Given the description of an element on the screen output the (x, y) to click on. 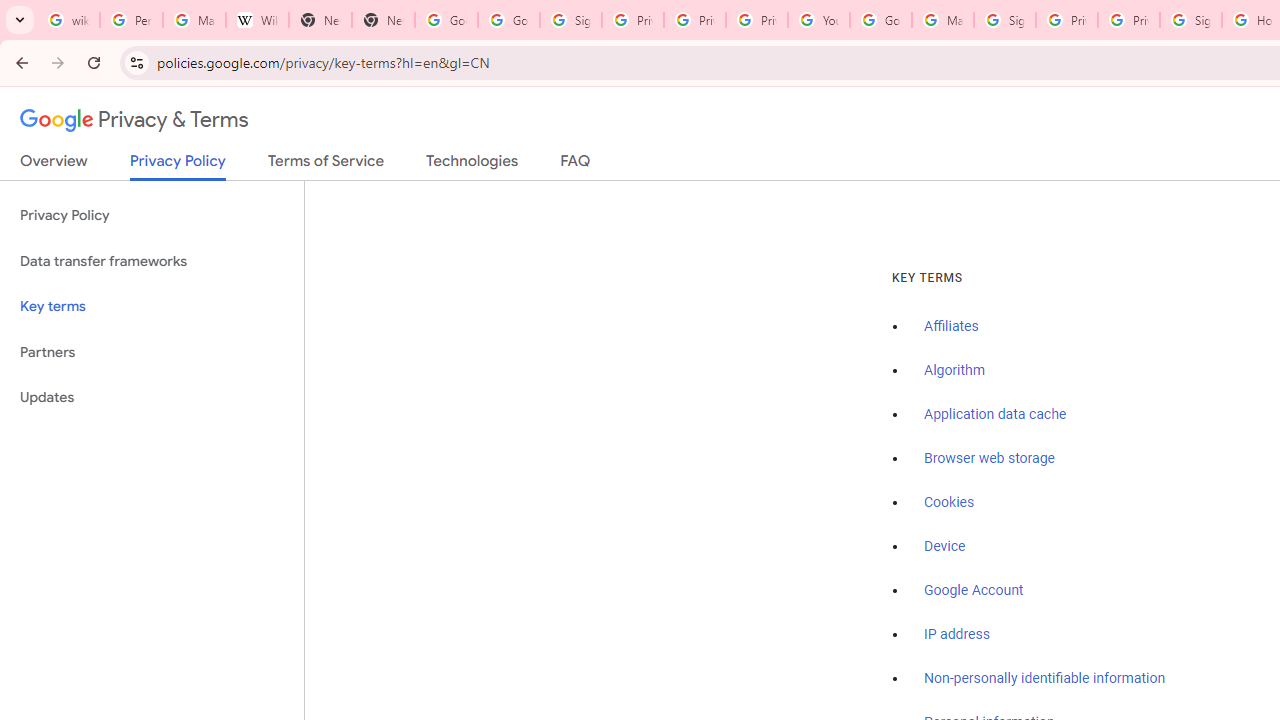
Manage your Location History - Google Search Help (194, 20)
YouTube (818, 20)
Sign in - Google Accounts (1004, 20)
New Tab (320, 20)
IP address (956, 634)
Sign in - Google Accounts (1190, 20)
